Given the description of an element on the screen output the (x, y) to click on. 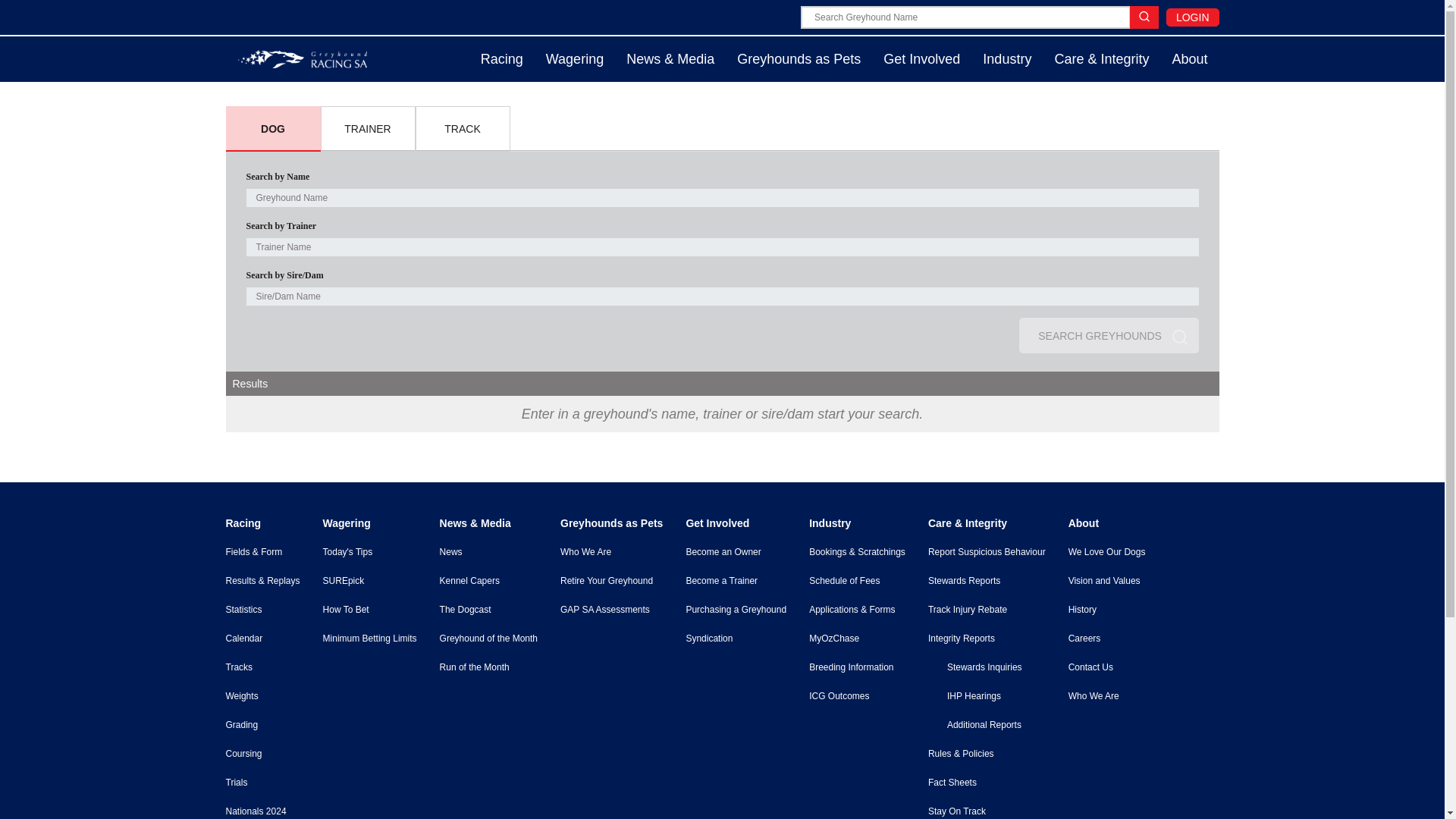
Greyhounds as Pets (798, 58)
Wagering (574, 58)
Get Involved (921, 58)
LOGIN (1193, 17)
Racing (501, 58)
